Given the description of an element on the screen output the (x, y) to click on. 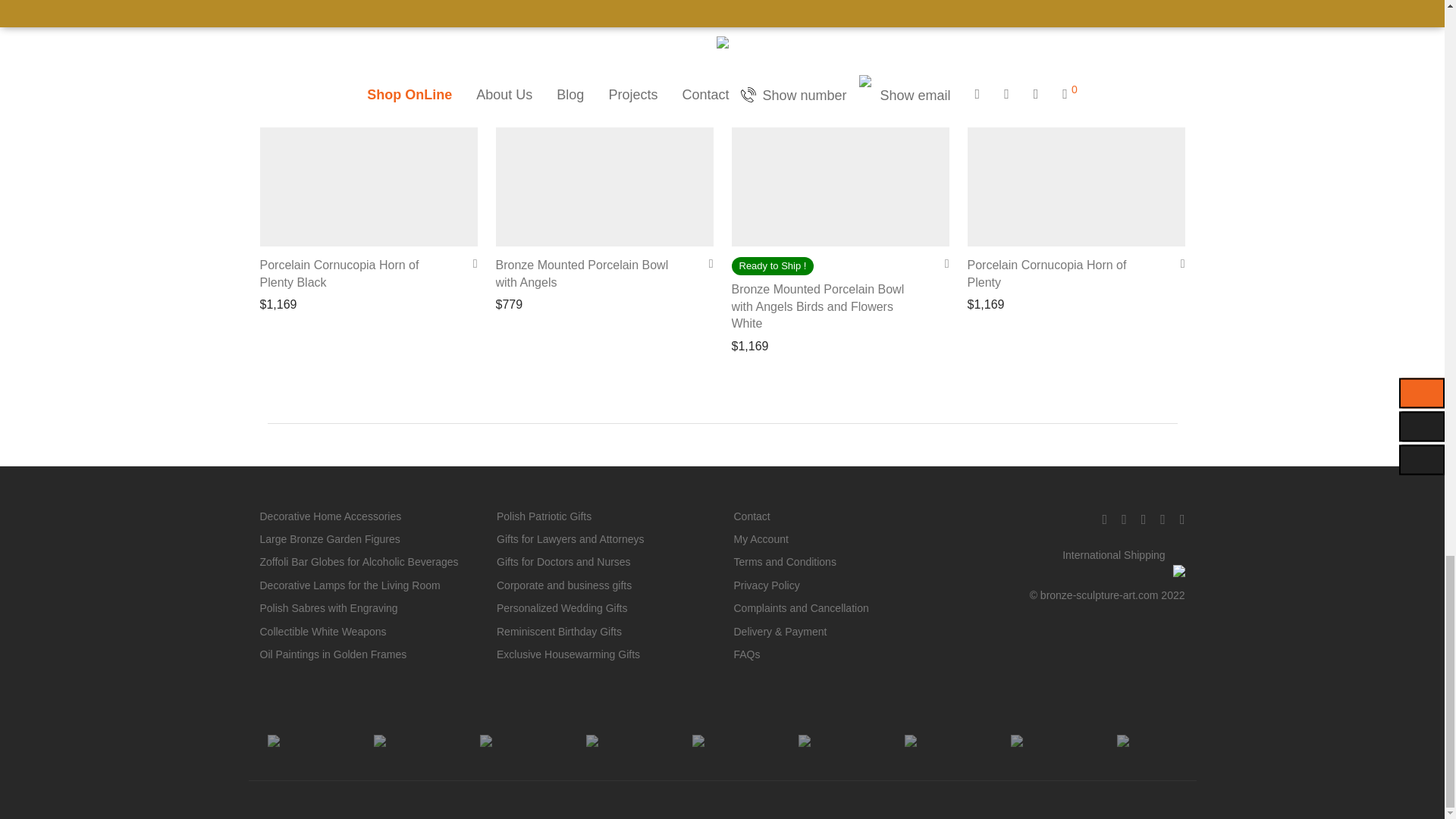
Add to Wishlist (941, 263)
Add to Wishlist (1177, 263)
Add to Wishlist (705, 263)
Add to Wishlist (470, 263)
